Given the description of an element on the screen output the (x, y) to click on. 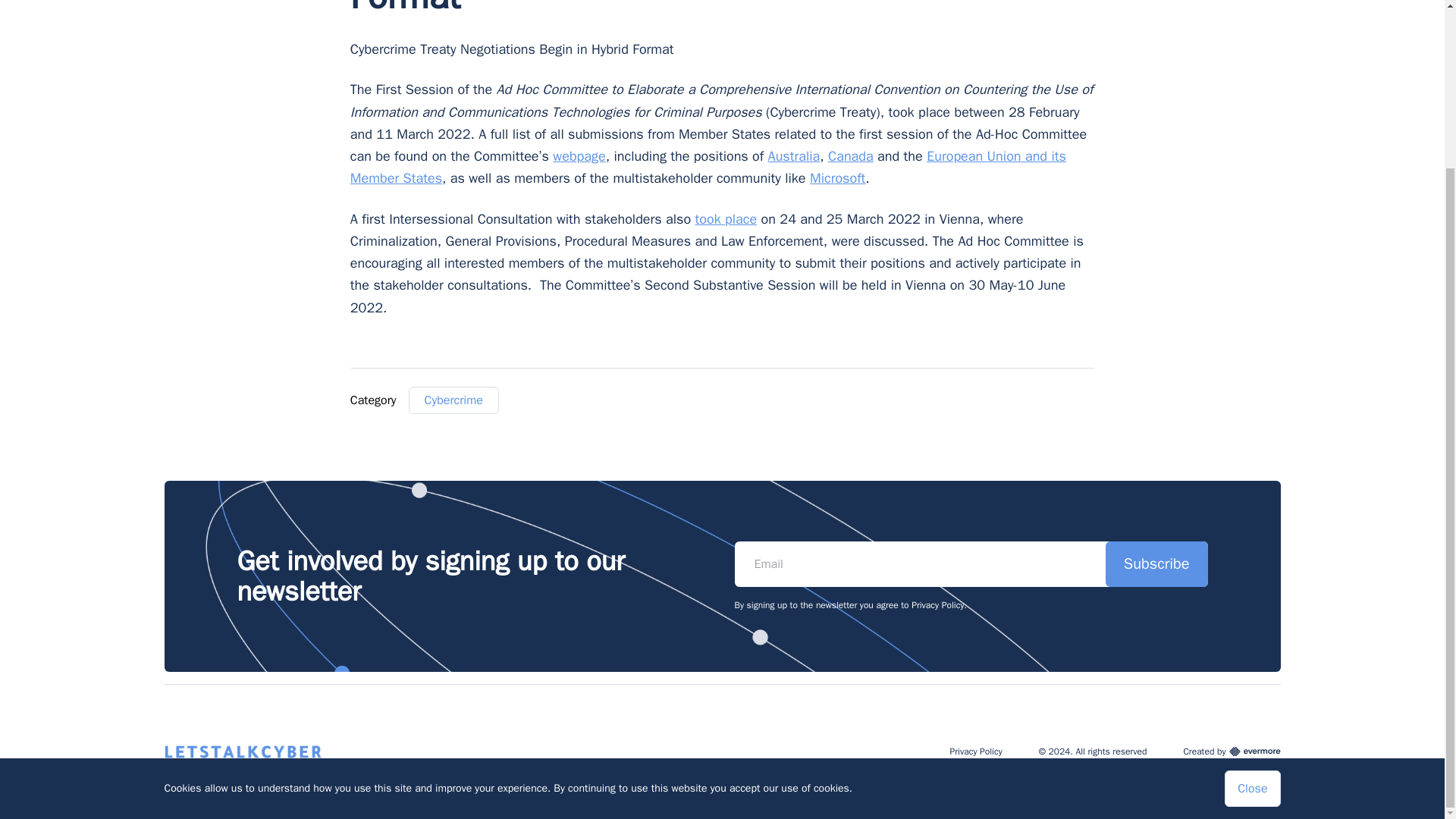
webpage (579, 156)
Privacy Policy (975, 751)
Evermore (1253, 750)
Canada (850, 156)
European Union and its Member States (707, 167)
Australia (794, 156)
Close (1251, 587)
Microsoft (836, 177)
Cybercrime (454, 400)
Subscribe (1156, 564)
